Given the description of an element on the screen output the (x, y) to click on. 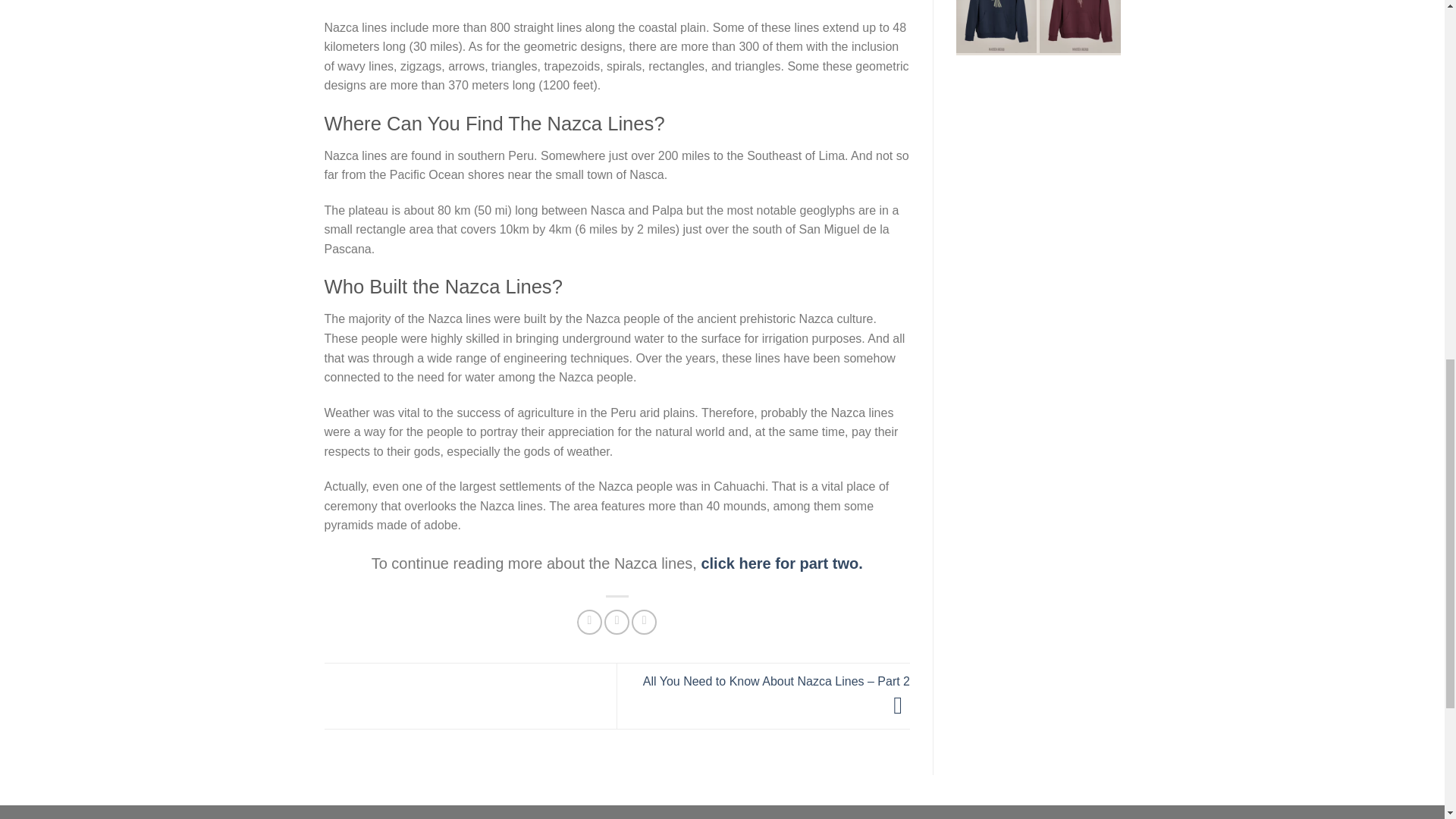
Share on Twitter (616, 621)
click here for part two. (780, 563)
Pin on Pinterest (643, 621)
Share on Facebook (589, 621)
